Given the description of an element on the screen output the (x, y) to click on. 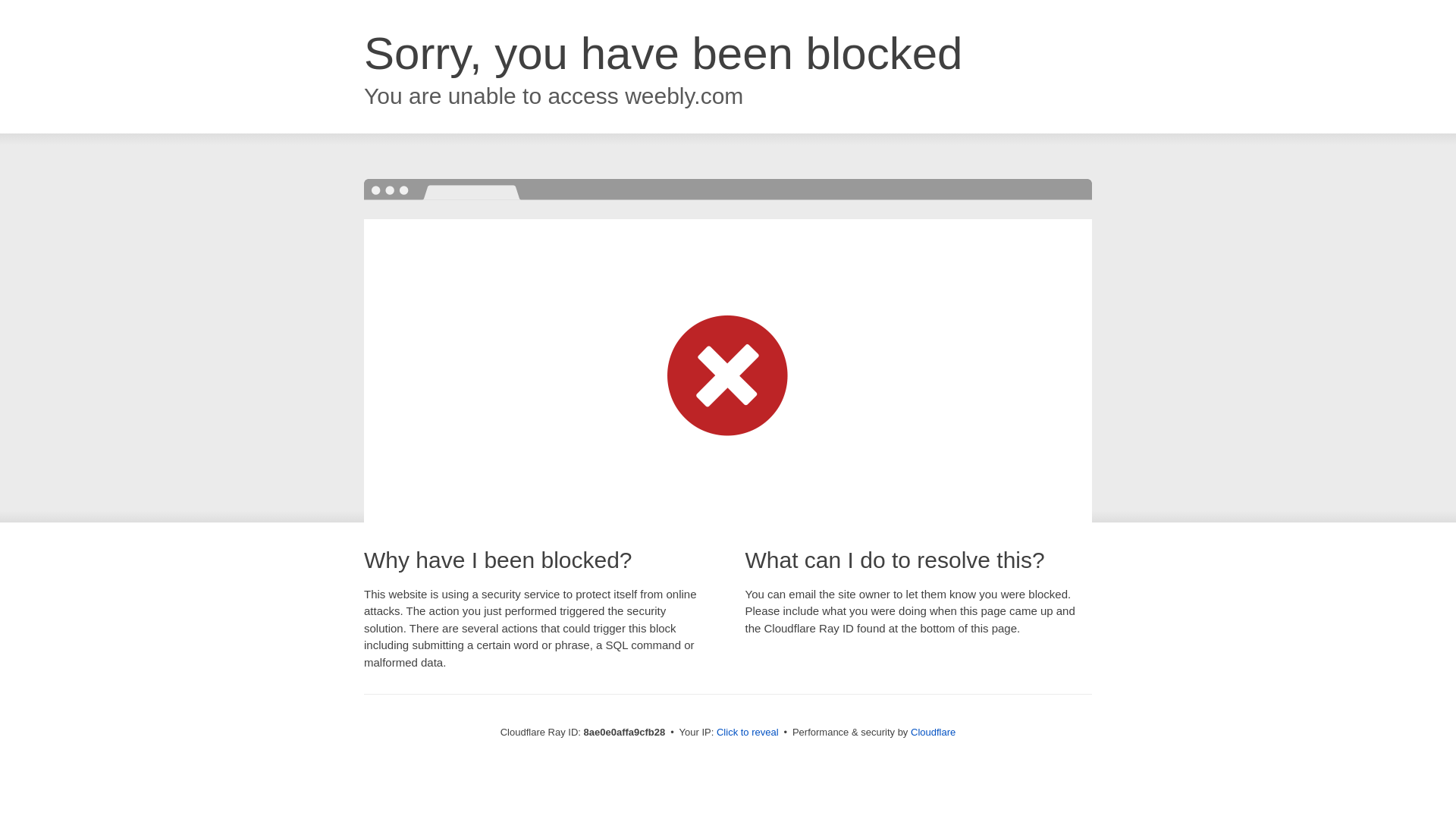
Cloudflare (933, 731)
Click to reveal (747, 732)
